Given the description of an element on the screen output the (x, y) to click on. 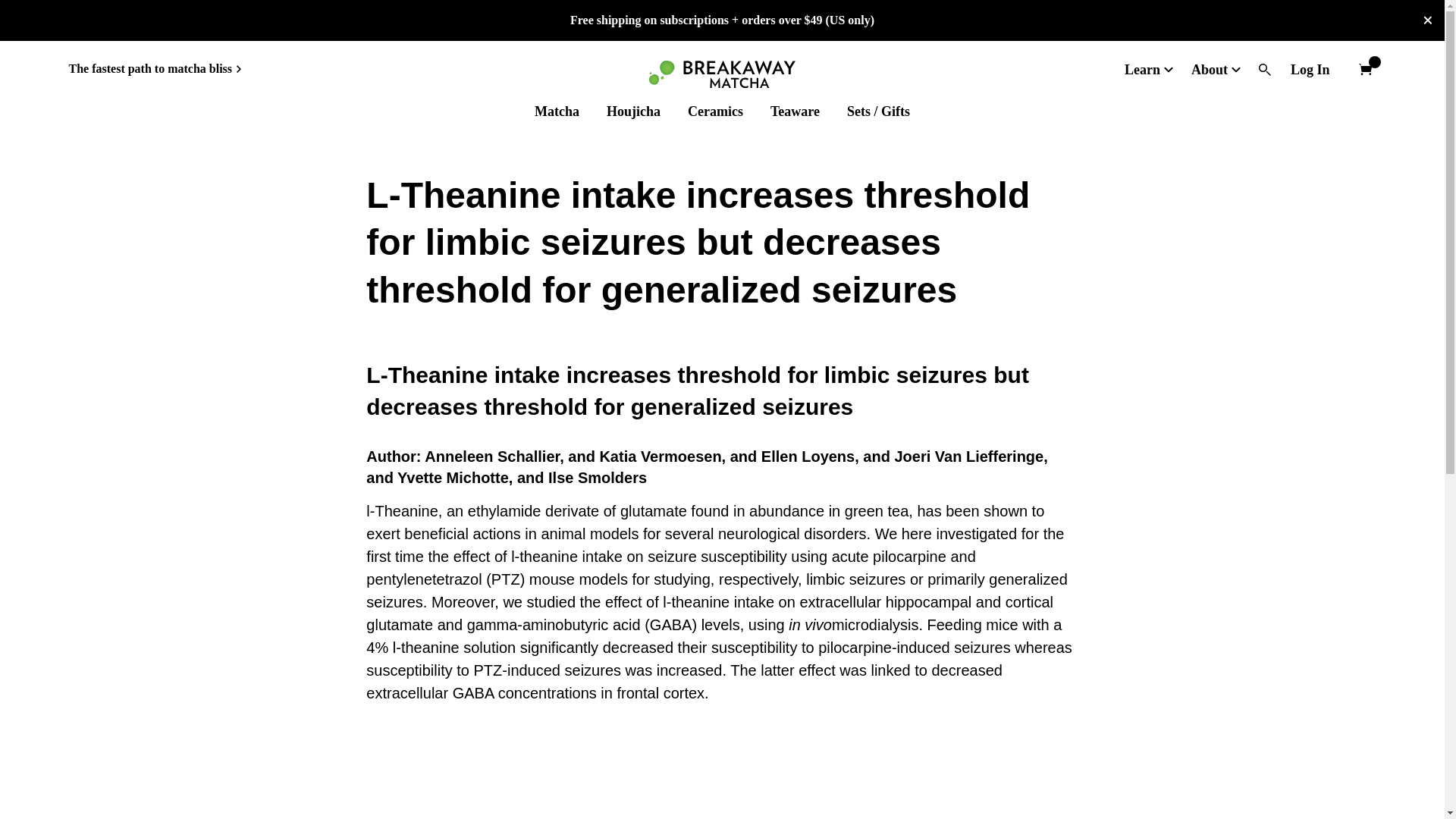
The fastest path to matcha bliss (154, 68)
Learn (1143, 69)
Teaware (794, 111)
Matcha (556, 111)
Log In (1310, 69)
About (1211, 69)
Ceramics (714, 111)
Houjicha (634, 111)
